Given the description of an element on the screen output the (x, y) to click on. 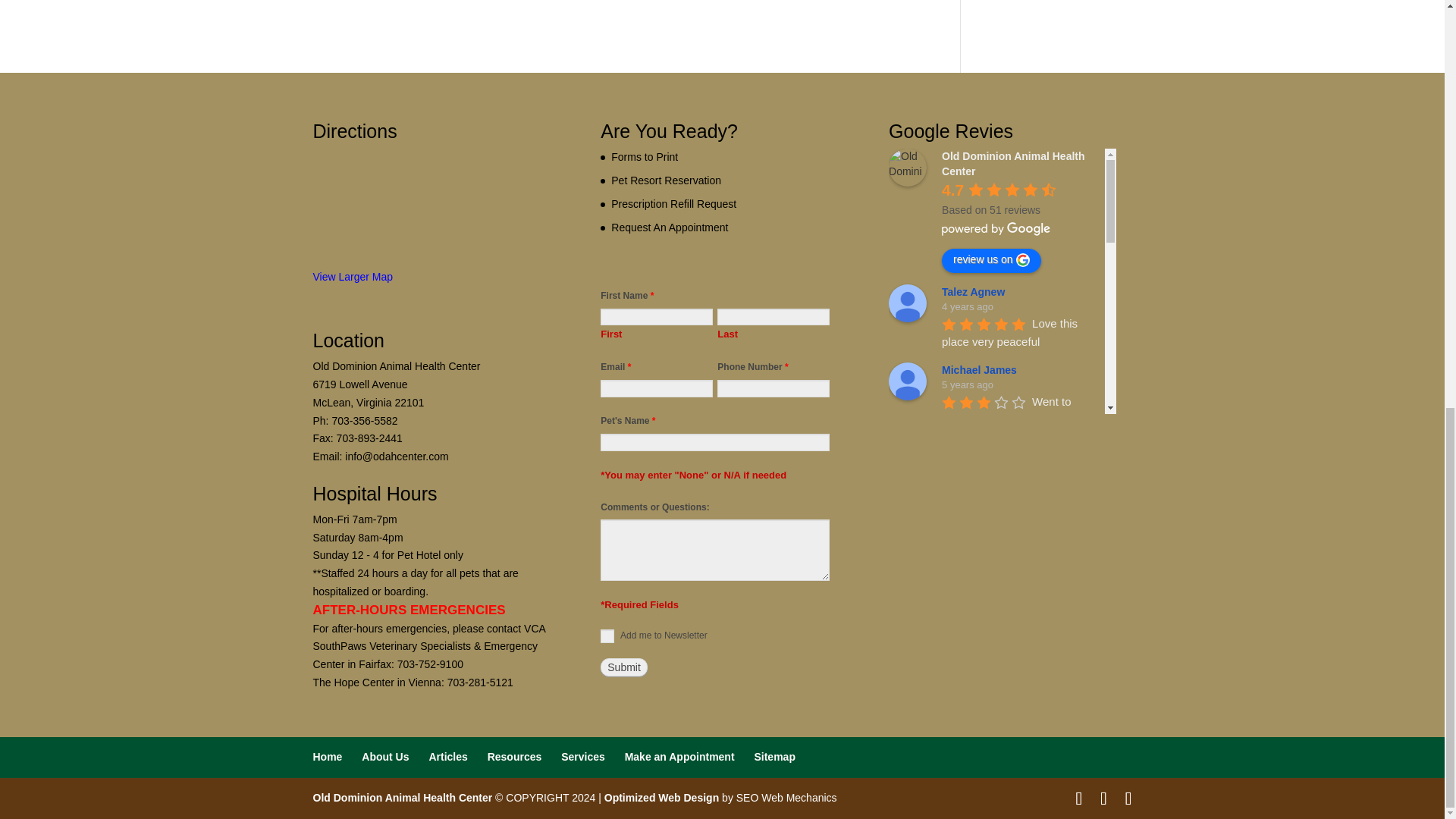
Ben Gump (907, 532)
Scott McDermond (907, 628)
Emma Q (907, 779)
powered by Google (996, 228)
Submit (623, 667)
Old Dominion Animal Health Center (907, 167)
Add me to Newsletter (606, 635)
Talez Agnew (907, 303)
Michael James (907, 381)
